Given the description of an element on the screen output the (x, y) to click on. 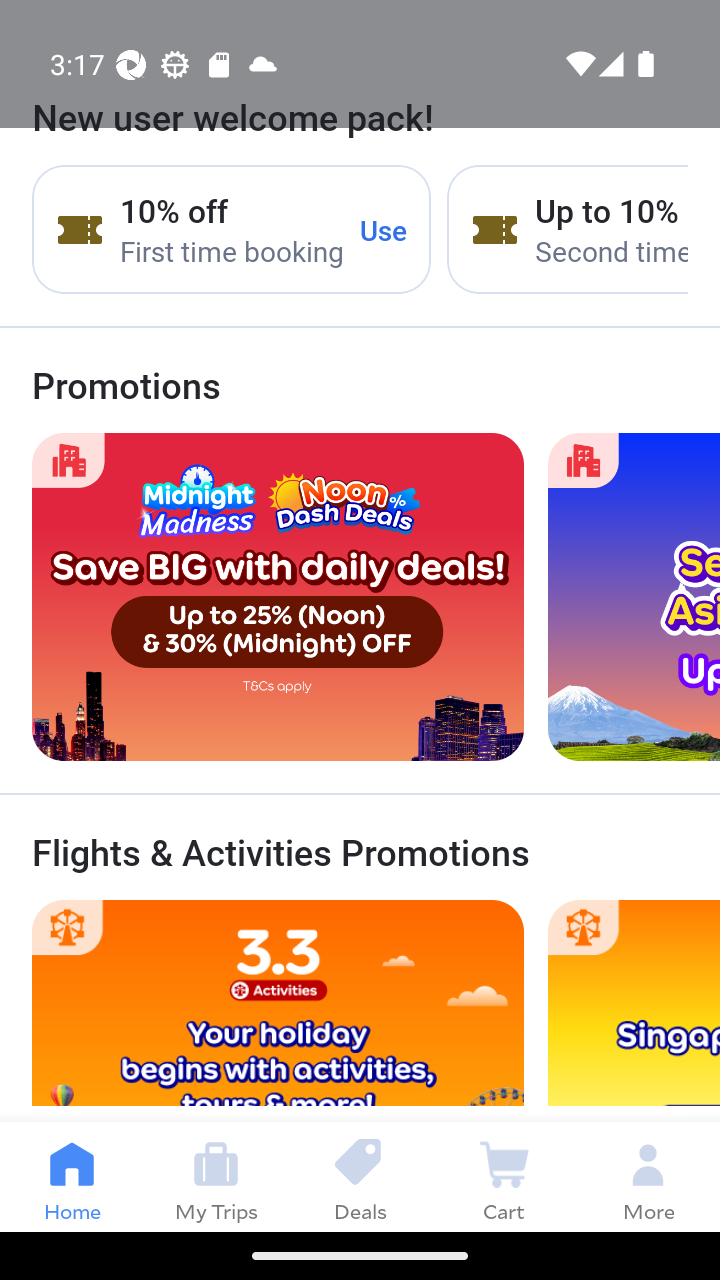
Use (384, 229)
Home (72, 1176)
My Trips (216, 1176)
Deals (360, 1176)
Cart (504, 1176)
More (648, 1176)
